Given the description of an element on the screen output the (x, y) to click on. 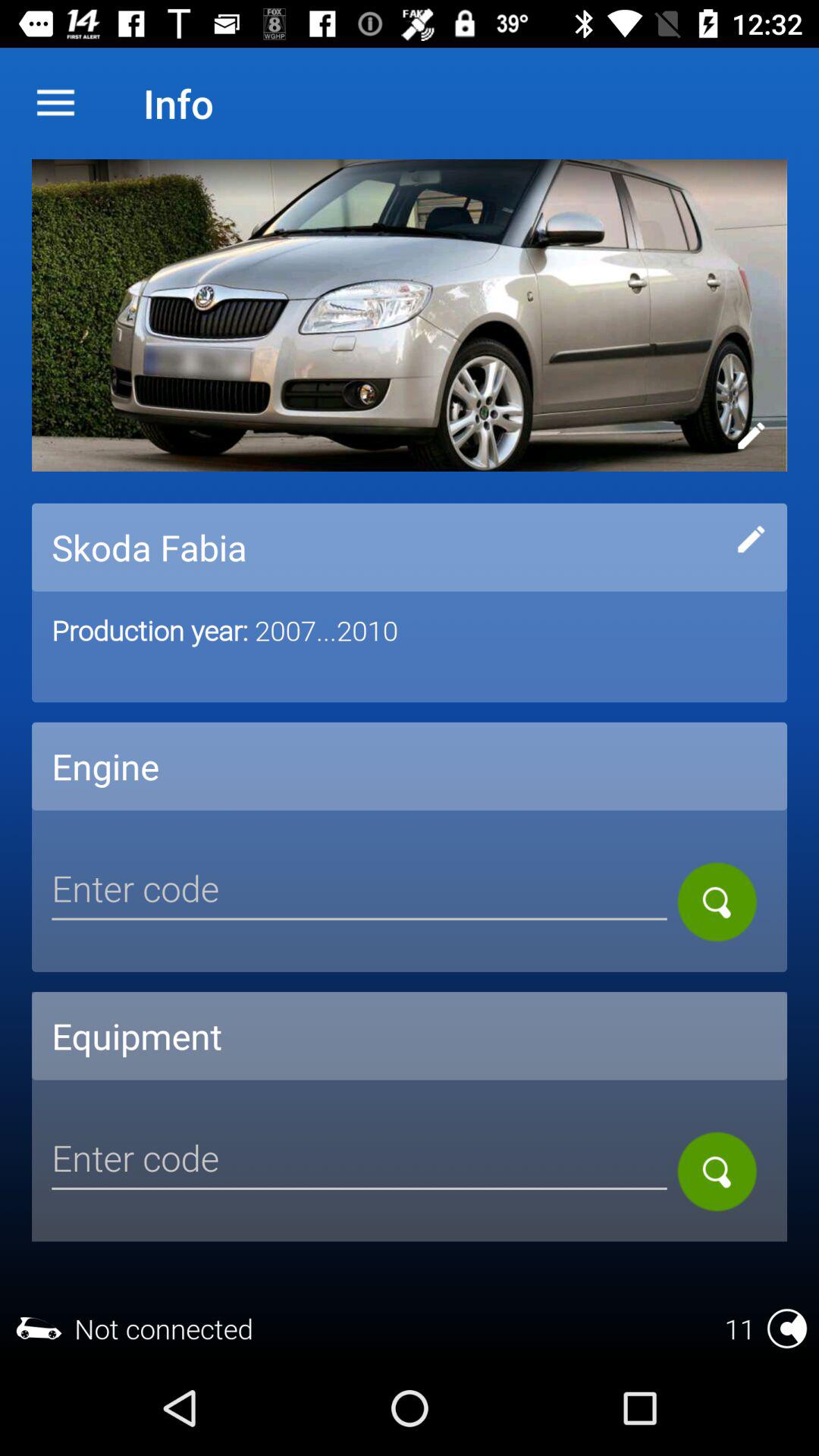
input details (751, 539)
